Given the description of an element on the screen output the (x, y) to click on. 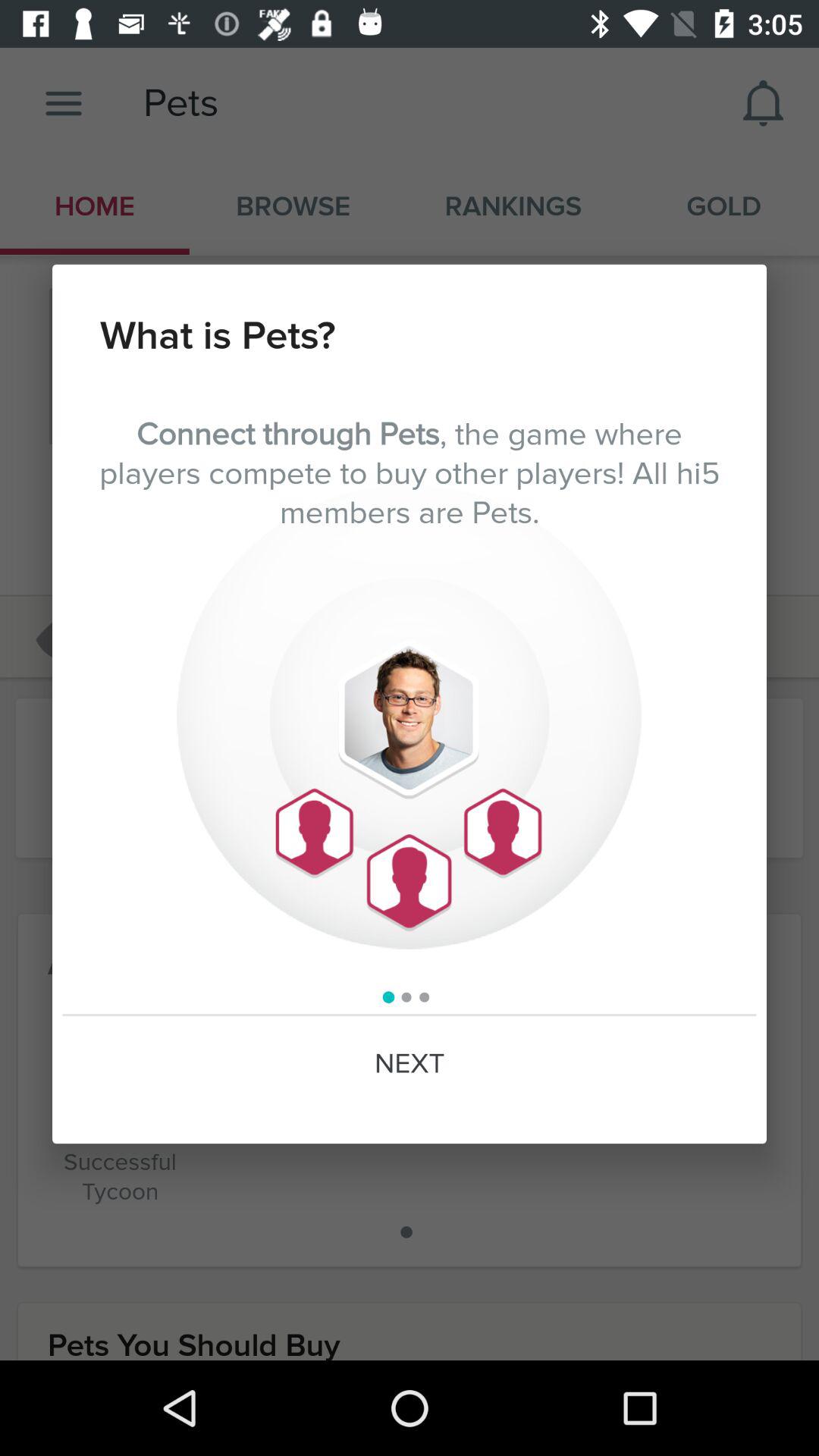
press next (409, 1063)
